Given the description of an element on the screen output the (x, y) to click on. 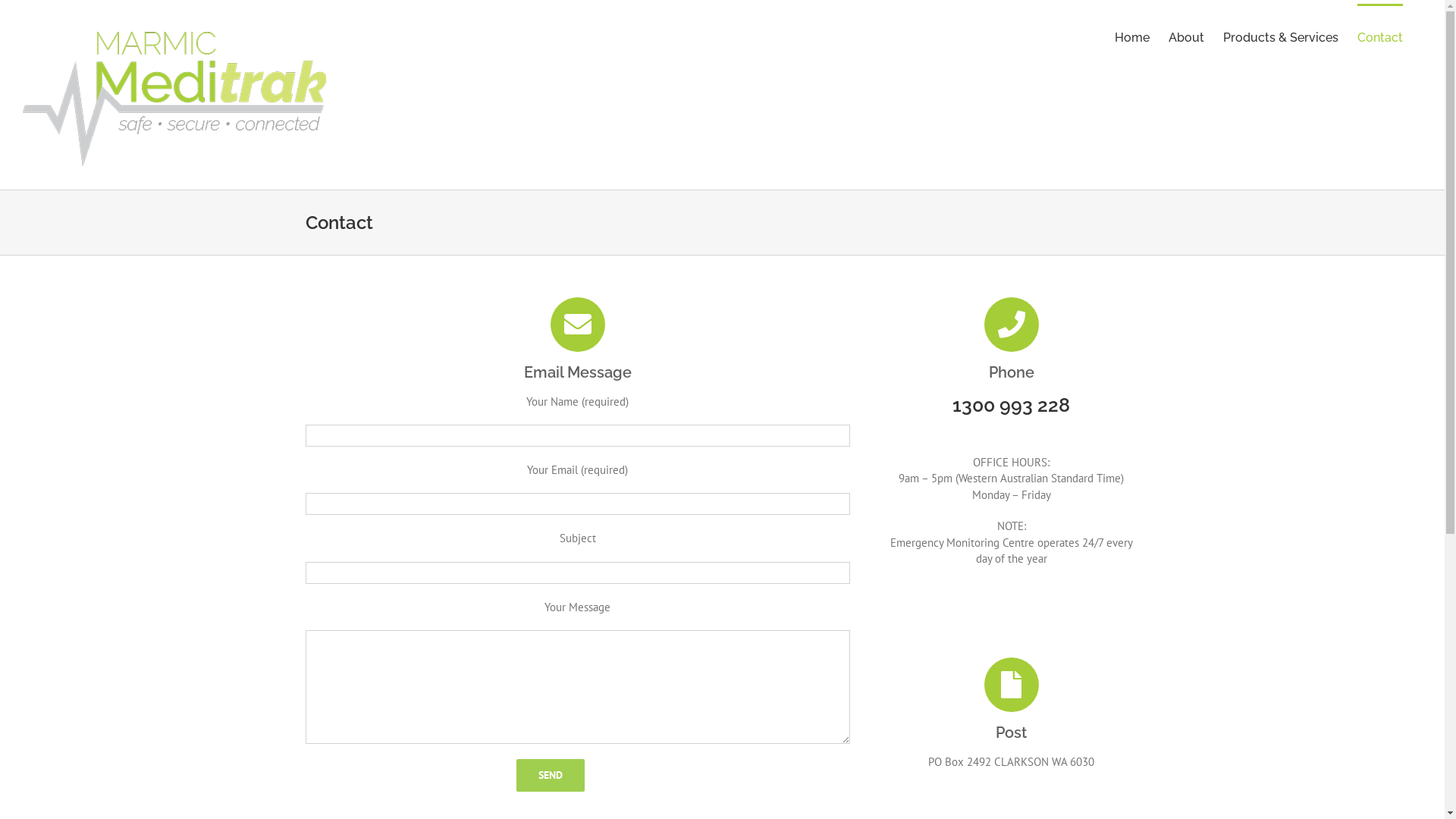
About Element type: text (1186, 36)
Home Element type: text (1131, 36)
Products & Services Element type: text (1280, 36)
Send Element type: text (550, 775)
Contact Element type: text (1379, 36)
